Given the description of an element on the screen output the (x, y) to click on. 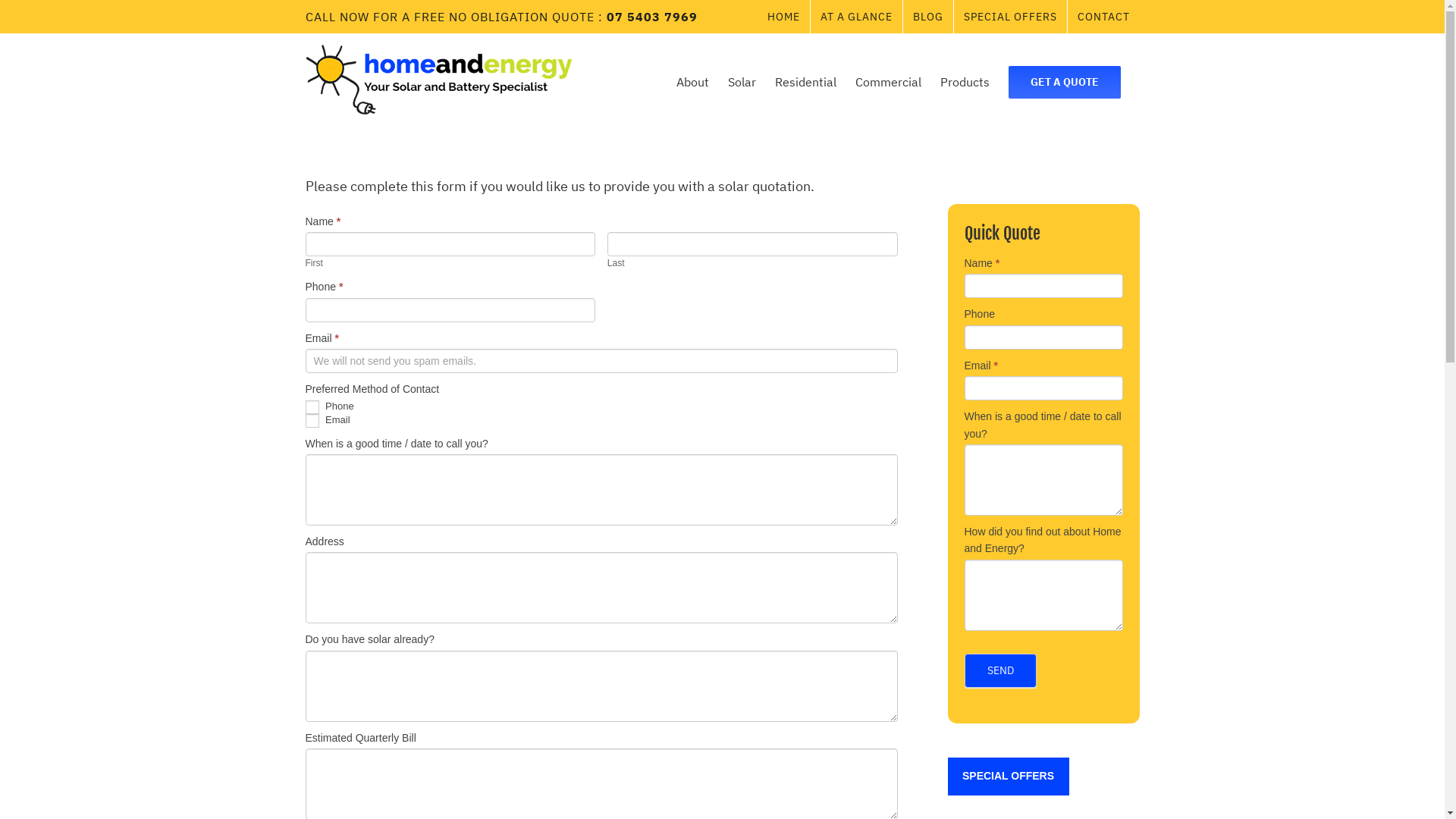
Solar Element type: text (742, 81)
SEND Element type: text (1000, 670)
Residential Element type: text (805, 81)
CONTACT Element type: text (1103, 16)
GET A QUOTE Element type: text (1064, 81)
SPECIAL OFFERS Element type: text (1009, 16)
About Element type: text (692, 81)
HOME Element type: text (782, 16)
Commercial Element type: text (888, 81)
07 5403 7969 Element type: text (651, 16)
BLOG Element type: text (927, 16)
SPECIAL OFFERS Element type: text (1008, 776)
AT A GLANCE Element type: text (855, 16)
Products Element type: text (964, 81)
